Given the description of an element on the screen output the (x, y) to click on. 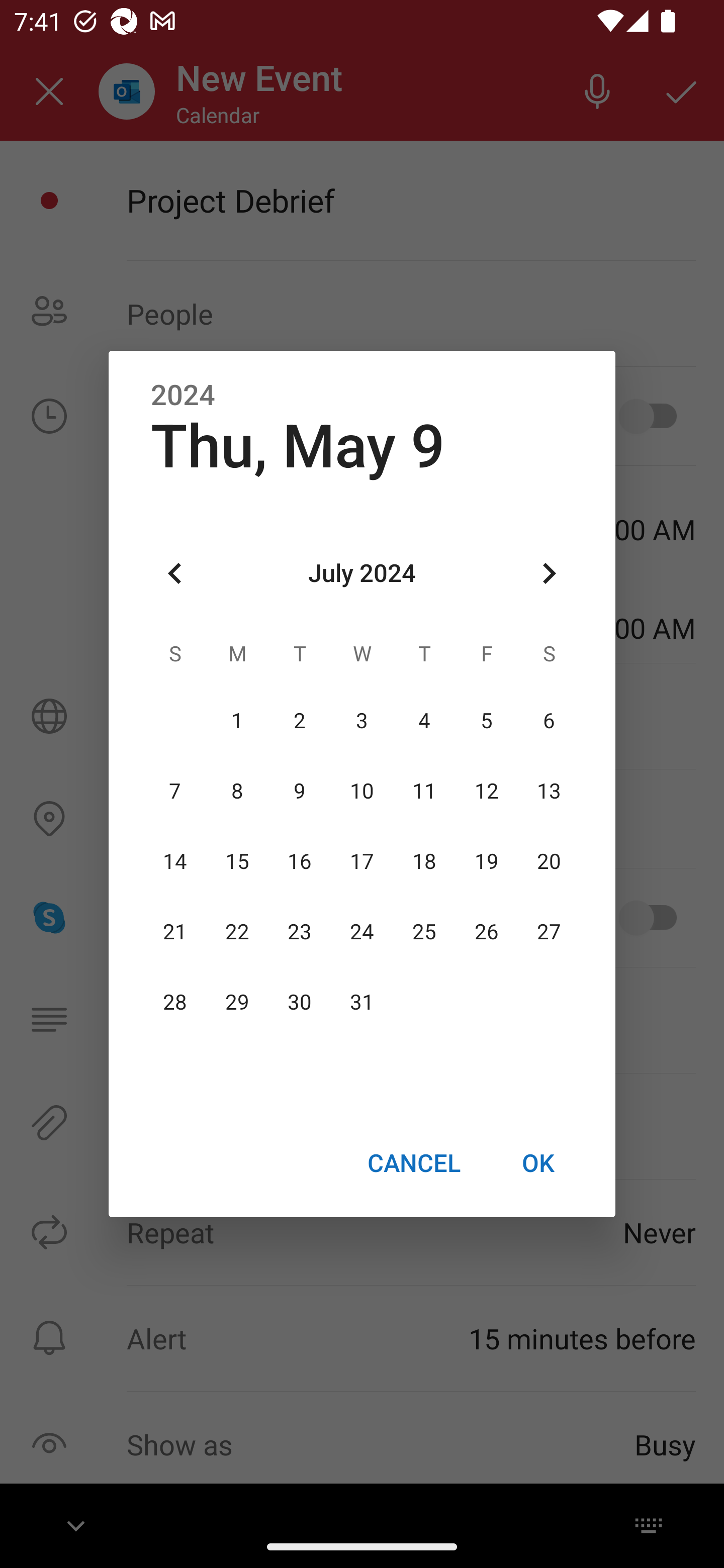
2024 (182, 395)
Thu, May 9 (297, 446)
Previous month (174, 573)
Next month (548, 573)
1 01 July 2024 (237, 720)
2 02 July 2024 (299, 720)
3 03 July 2024 (361, 720)
4 04 July 2024 (424, 720)
5 05 July 2024 (486, 720)
6 06 July 2024 (548, 720)
7 07 July 2024 (175, 790)
8 08 July 2024 (237, 790)
9 09 July 2024 (299, 790)
10 10 July 2024 (361, 790)
11 11 July 2024 (424, 790)
12 12 July 2024 (486, 790)
13 13 July 2024 (548, 790)
14 14 July 2024 (175, 861)
15 15 July 2024 (237, 861)
16 16 July 2024 (299, 861)
17 17 July 2024 (361, 861)
18 18 July 2024 (424, 861)
19 19 July 2024 (486, 861)
20 20 July 2024 (548, 861)
21 21 July 2024 (175, 931)
22 22 July 2024 (237, 931)
23 23 July 2024 (299, 931)
24 24 July 2024 (361, 931)
25 25 July 2024 (424, 931)
26 26 July 2024 (486, 931)
27 27 July 2024 (548, 931)
28 28 July 2024 (175, 1002)
29 29 July 2024 (237, 1002)
30 30 July 2024 (299, 1002)
31 31 July 2024 (361, 1002)
CANCEL (413, 1162)
OK (537, 1162)
